Given the description of an element on the screen output the (x, y) to click on. 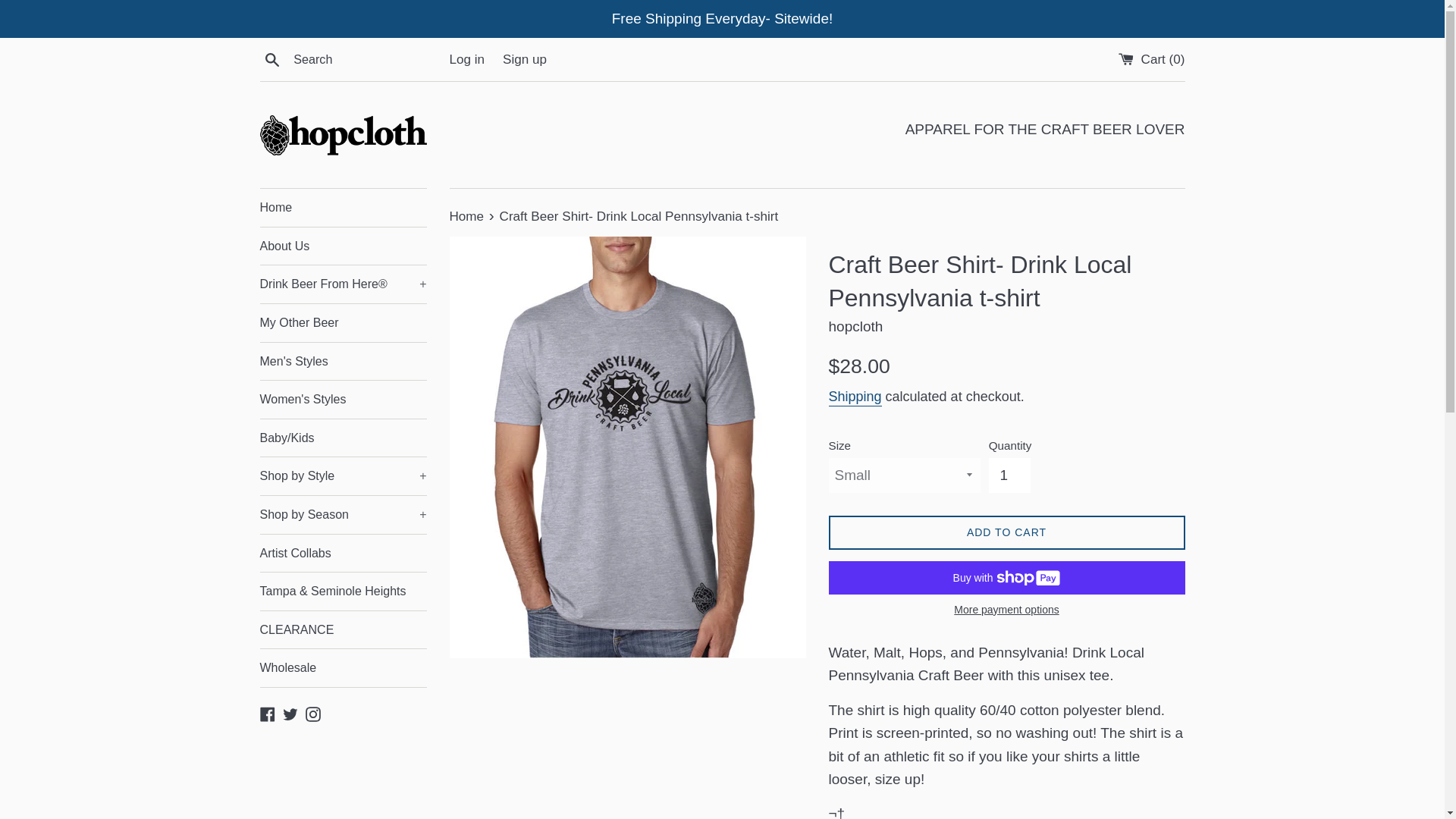
Log in (466, 59)
hopcloth on Instagram (312, 713)
Sign up (524, 59)
Back to the frontpage (467, 216)
Home (342, 207)
hopcloth on Facebook (267, 713)
hopcloth on Twitter (290, 713)
Search (271, 58)
1 (1009, 475)
About Us (342, 246)
